Given the description of an element on the screen output the (x, y) to click on. 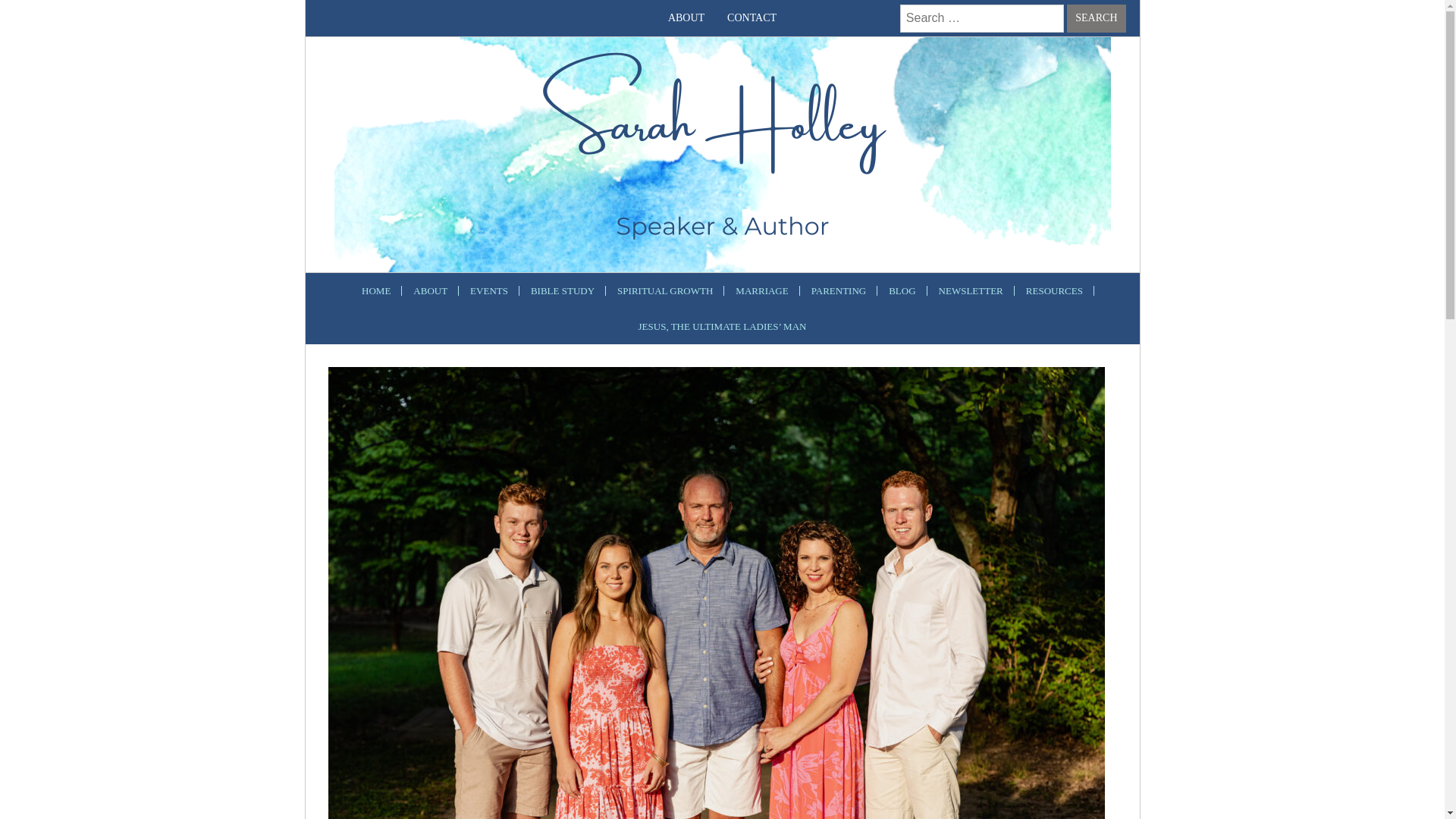
NEWSLETTER (970, 290)
ABOUT (686, 18)
ABOUT (429, 290)
RESOURCES (1054, 290)
HOME (375, 290)
BIBLE STUDY (562, 290)
CONTACT (751, 18)
EVENTS (488, 290)
BLOG (901, 290)
SPIRITUAL GROWTH (664, 290)
MARRIAGE (761, 290)
Search (1096, 18)
PARENTING (838, 290)
Search (1096, 18)
Search (1096, 18)
